Given the description of an element on the screen output the (x, y) to click on. 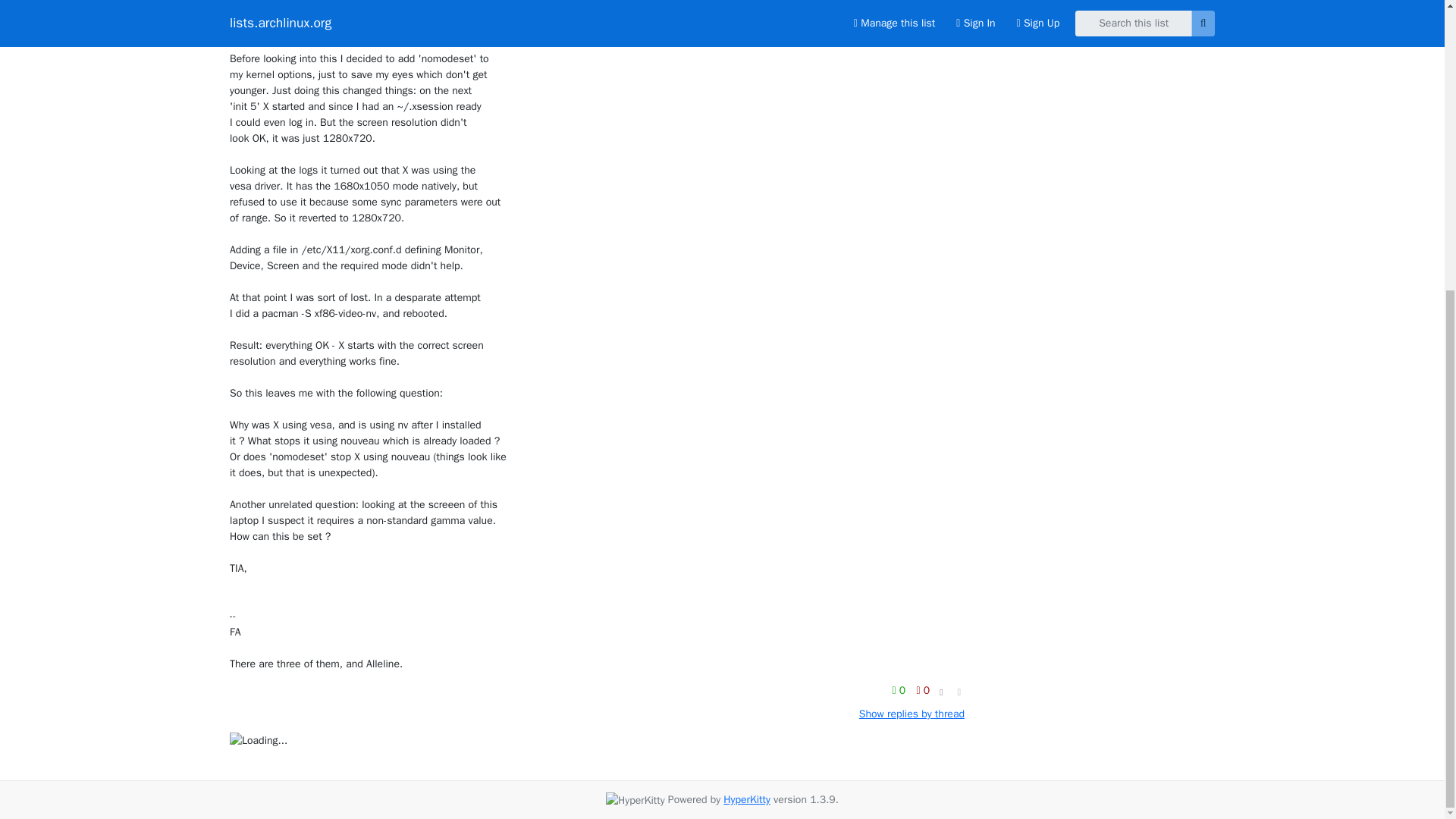
0 (922, 690)
You must be logged-in to vote. (922, 690)
You must be logged-in to vote. (900, 690)
Show replies by thread (911, 713)
0 (900, 690)
HyperKitty (746, 799)
